Given the description of an element on the screen output the (x, y) to click on. 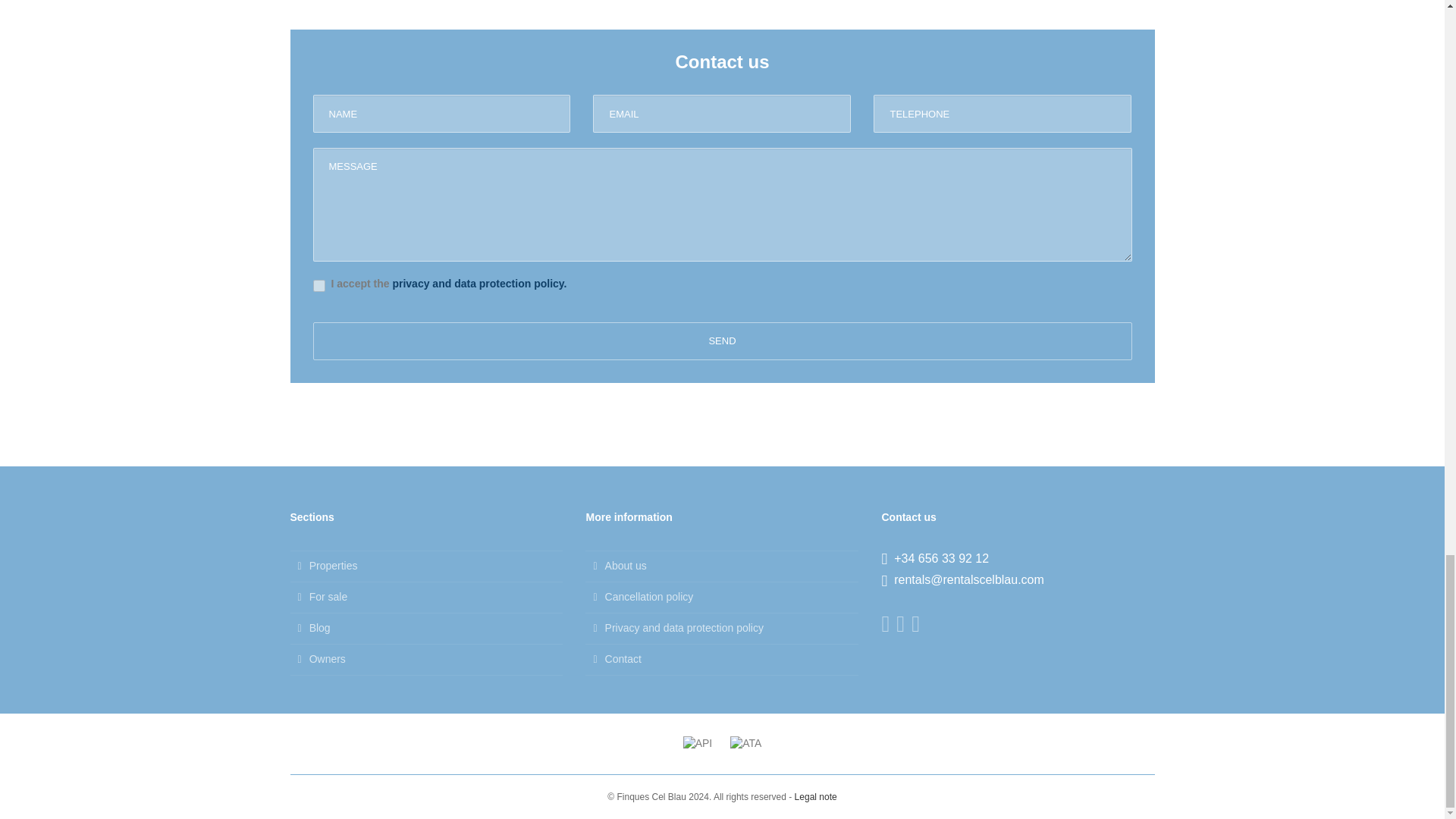
Owners (425, 659)
About us (722, 565)
Blog (425, 627)
Contact (722, 659)
Send (722, 341)
Properties (425, 565)
Send (722, 341)
For sale (425, 596)
Privacy and data protection policy (722, 627)
Cancellation policy (722, 596)
Legal note (815, 796)
on (318, 285)
privacy and data protection policy. (478, 283)
